Given the description of an element on the screen output the (x, y) to click on. 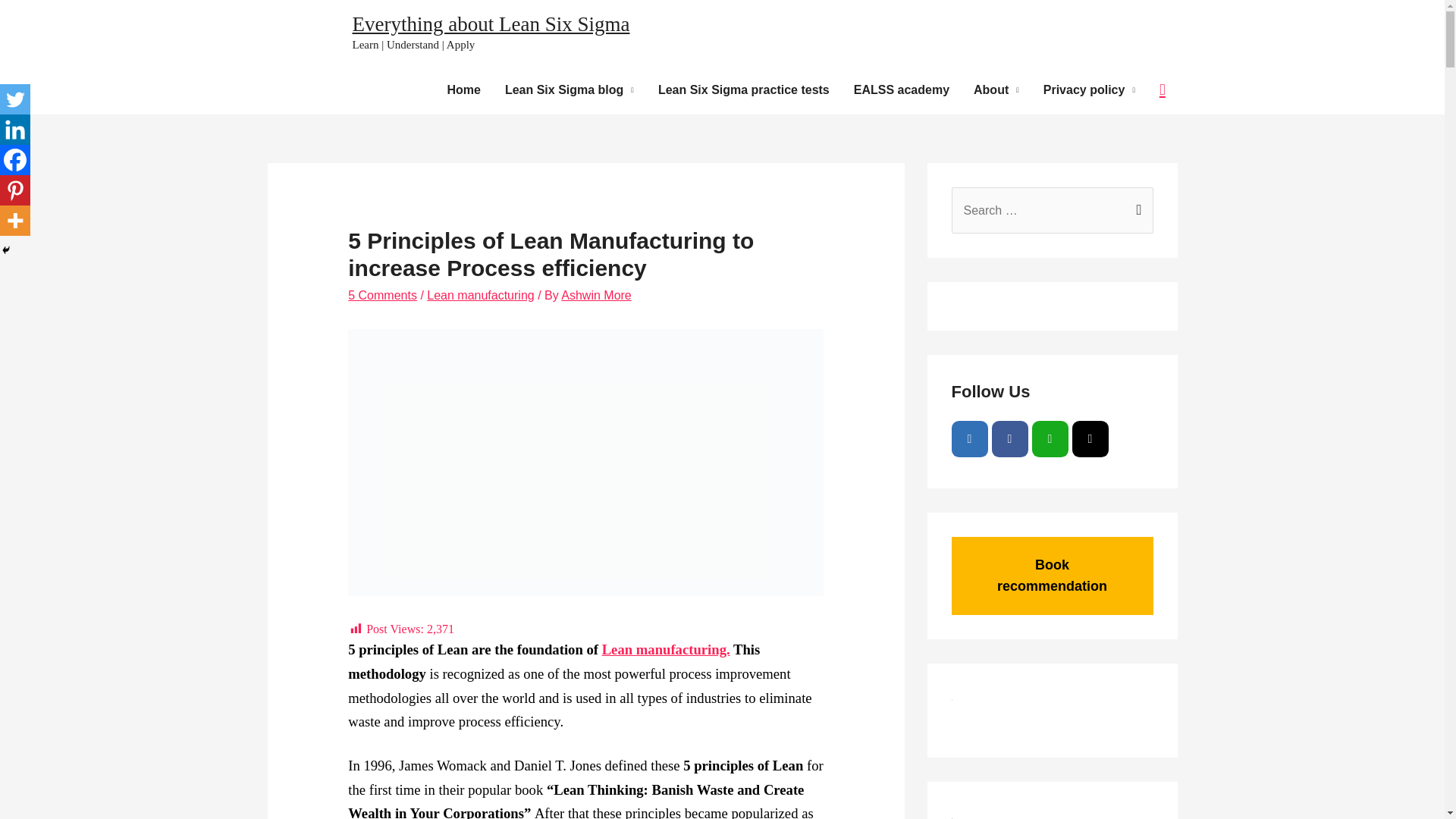
Lean Six Sigma blog (569, 90)
Home (462, 90)
Privacy policy (1088, 90)
Lean manufacturing. (666, 649)
Search (1136, 203)
EALSS academy (900, 90)
Twitter (15, 99)
Ashwin More (595, 295)
Everything about Lean Six Sigma (490, 24)
Facebook (15, 159)
5 Comments (381, 295)
Lean Six Sigma practice tests (743, 90)
Linkedin (15, 129)
Pinterest (15, 190)
View all posts by Ashwin More (595, 295)
